Given the description of an element on the screen output the (x, y) to click on. 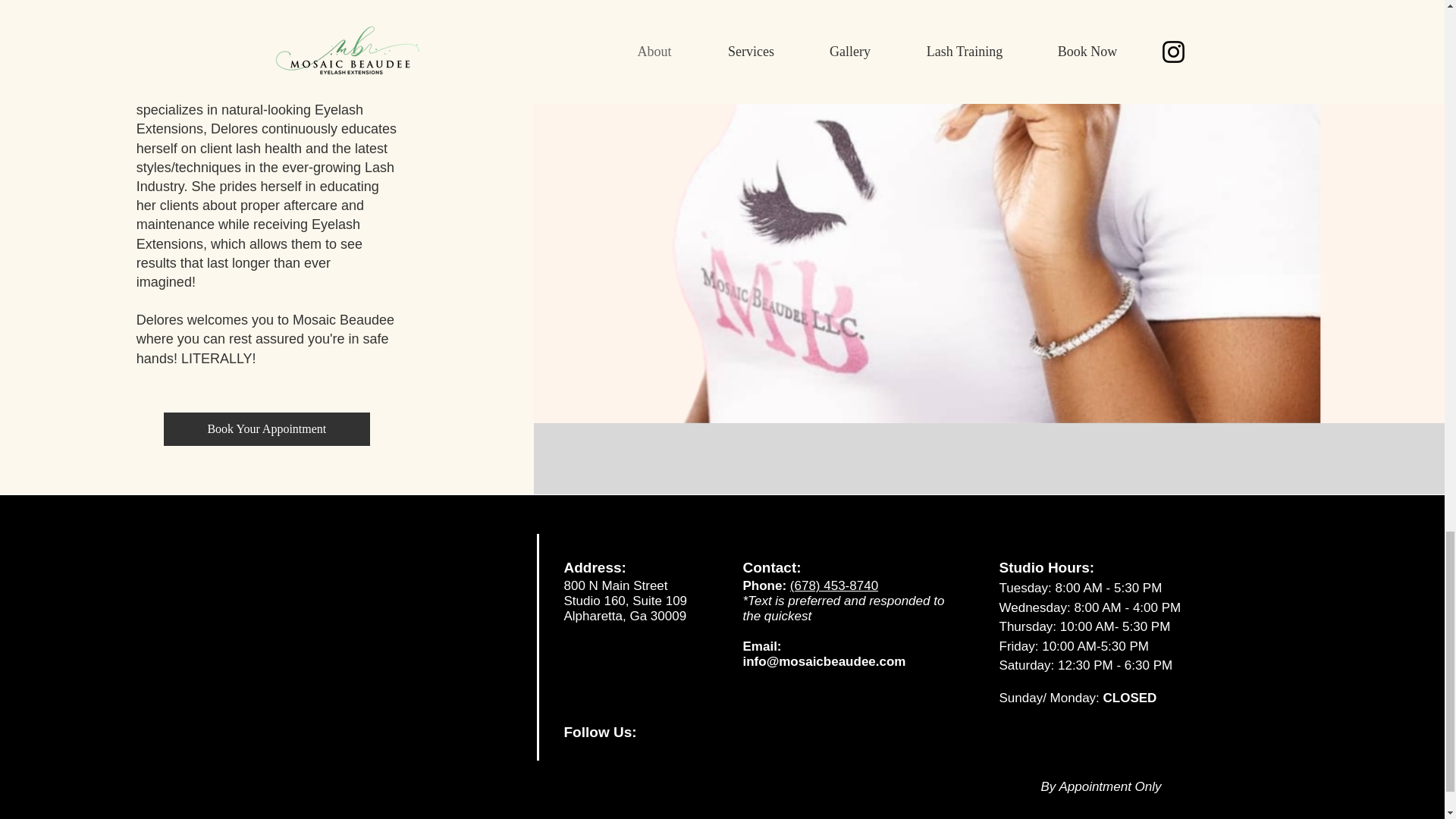
Book Your Appointment (266, 428)
Google Maps (363, 645)
